Given the description of an element on the screen output the (x, y) to click on. 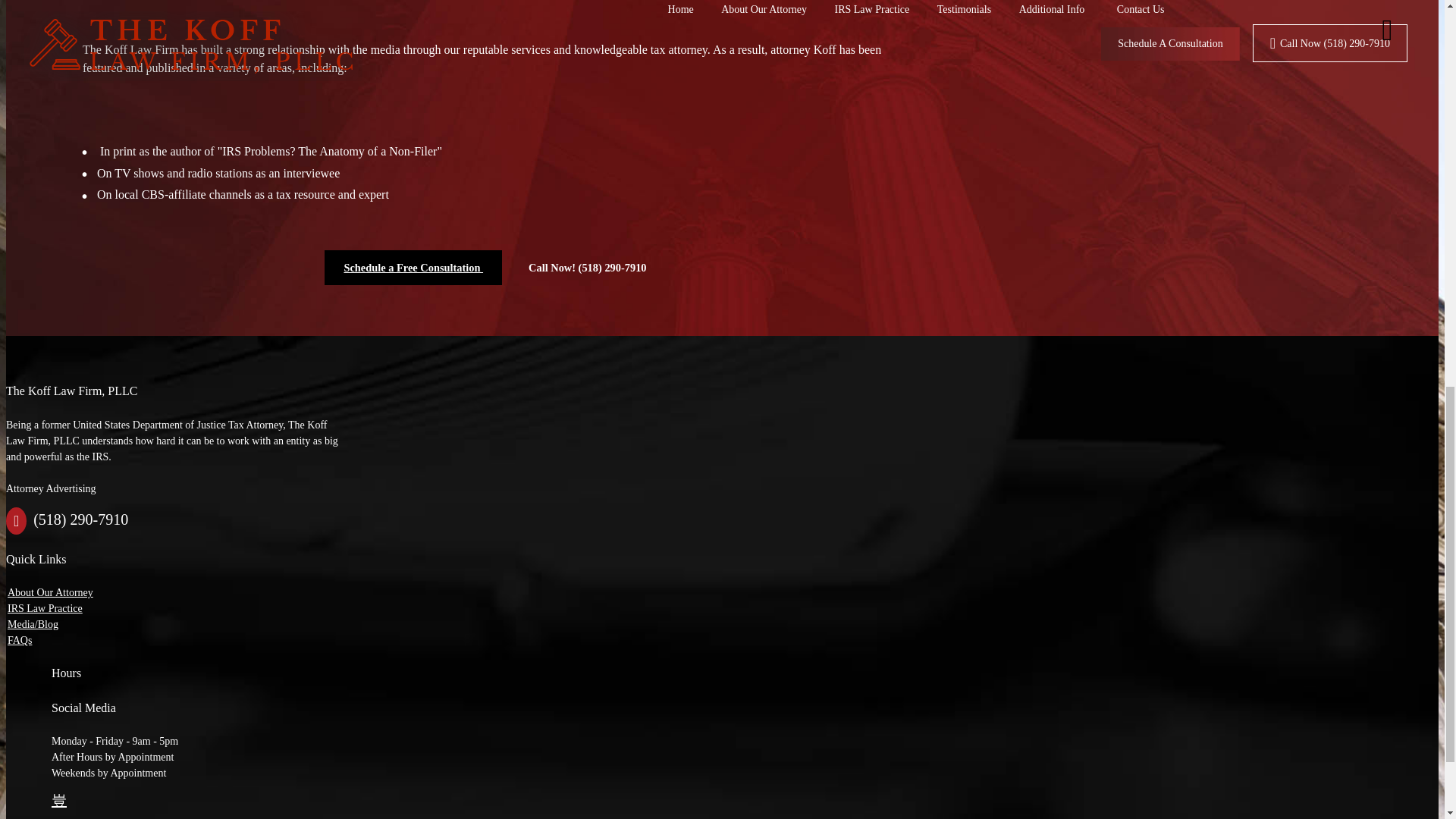
IRS Law Practice (44, 608)
About Our Attorney (50, 592)
FAQs (19, 640)
Schedule a Free Consultation (413, 267)
Google My Business (58, 799)
